Given the description of an element on the screen output the (x, y) to click on. 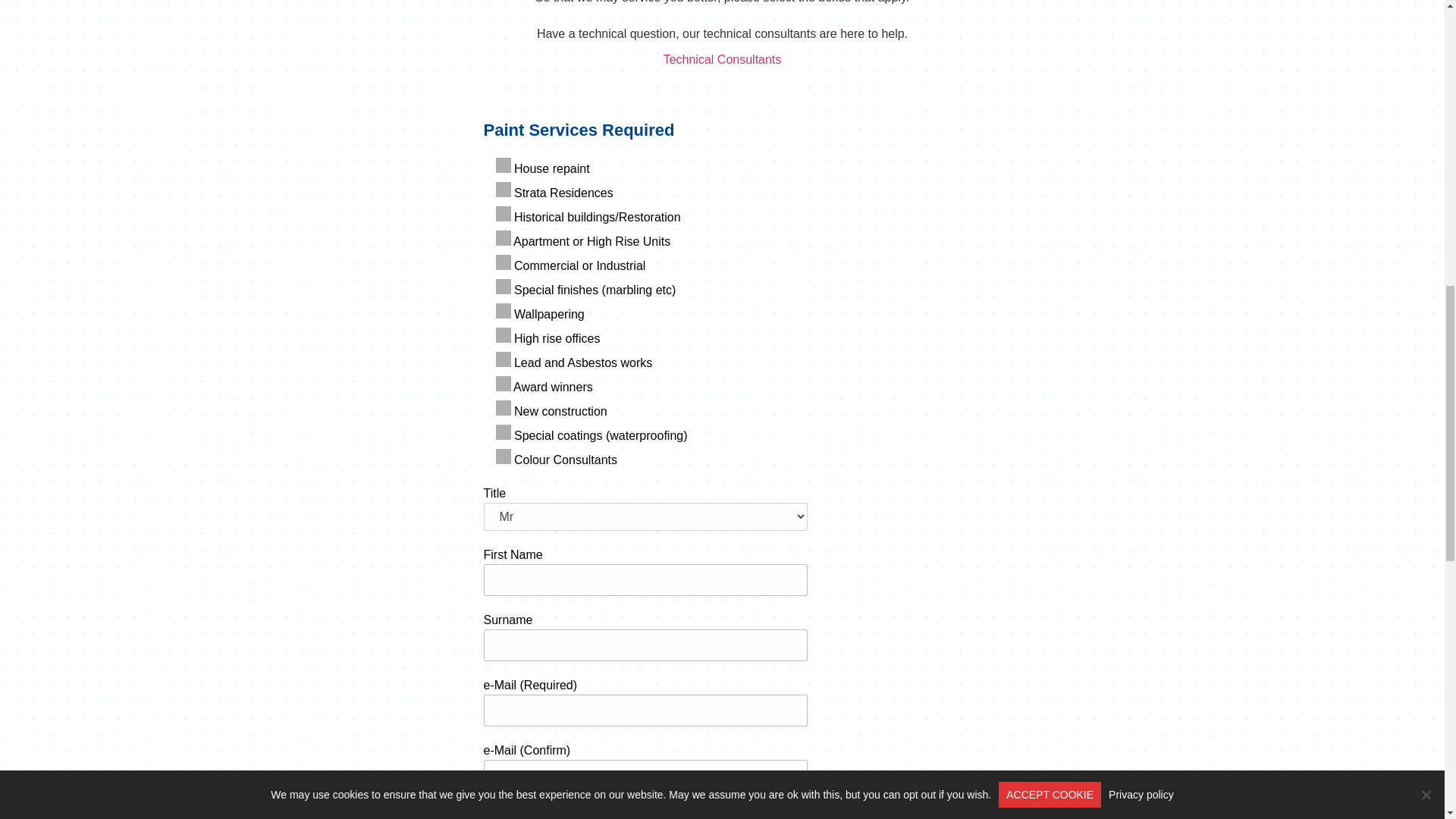
House repaint (503, 165)
Apartment or High Rise Units (503, 237)
Strata Residences (503, 189)
Award winners (503, 383)
Wallpapering (503, 310)
Colour Consultants (503, 456)
New construction (503, 407)
Commercial or Industrial (503, 262)
High rise offices (503, 335)
Lead and Asbestos works (503, 359)
